Given the description of an element on the screen output the (x, y) to click on. 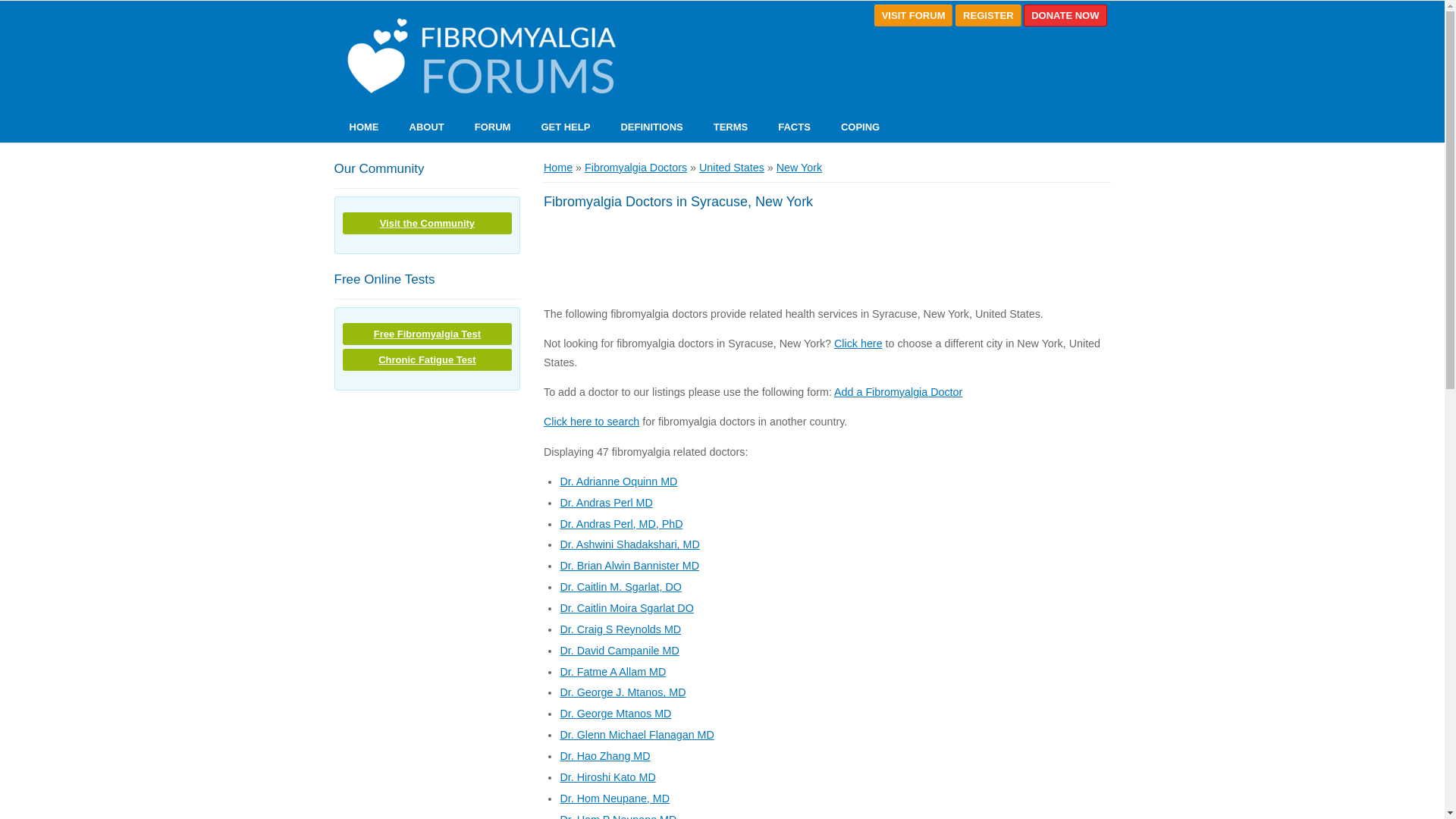
Add a Fibromyalgia Doctor (898, 391)
Dr. Andras Perl, MD, PhD (620, 523)
United States (731, 167)
Fibromyalgia doctors in New York (799, 167)
Free fibromyalgia test (427, 333)
Fibromyalgia Forum (478, 56)
Fibromyalgia Doctors (636, 167)
HOME (363, 126)
Dr. David Campanile MD (618, 650)
Dr. Adrianne Oquinn MD (618, 481)
